Given the description of an element on the screen output the (x, y) to click on. 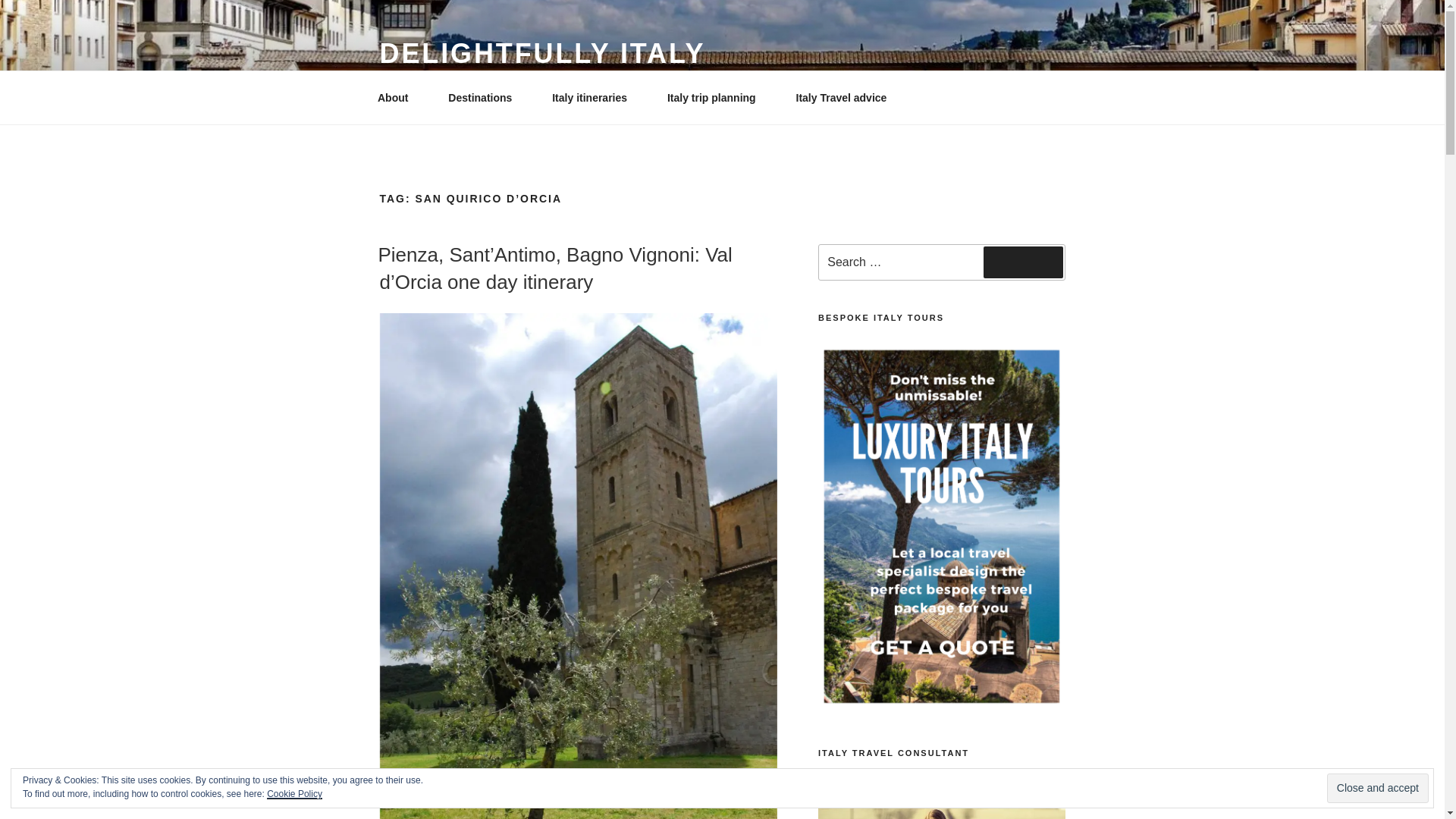
About (397, 97)
Italy Travel advice (841, 97)
Close and accept (1377, 788)
DELIGHTFULLY ITALY (541, 52)
Italy trip planning (715, 97)
Italy itineraries (594, 97)
Destinations (485, 97)
